Given the description of an element on the screen output the (x, y) to click on. 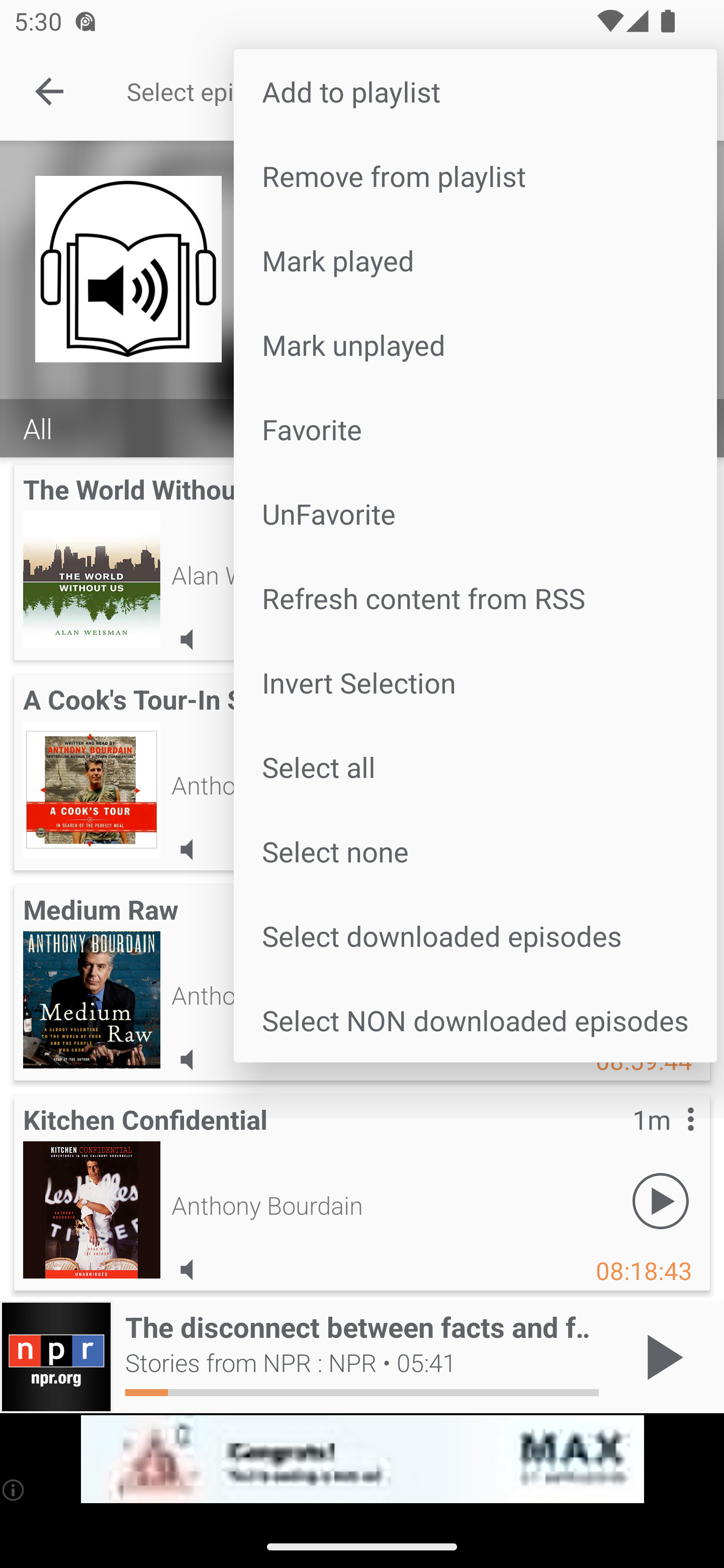
Add to playlist (474, 90)
Remove from playlist (474, 175)
Mark played (474, 259)
Mark unplayed (474, 344)
Favorite (474, 429)
UnFavorite (474, 513)
Refresh content from RSS (474, 597)
Invert Selection (474, 681)
Select all (474, 766)
Select none (474, 851)
Select downloaded episodes (474, 935)
Select NON downloaded episodes (474, 1020)
